Given the description of an element on the screen output the (x, y) to click on. 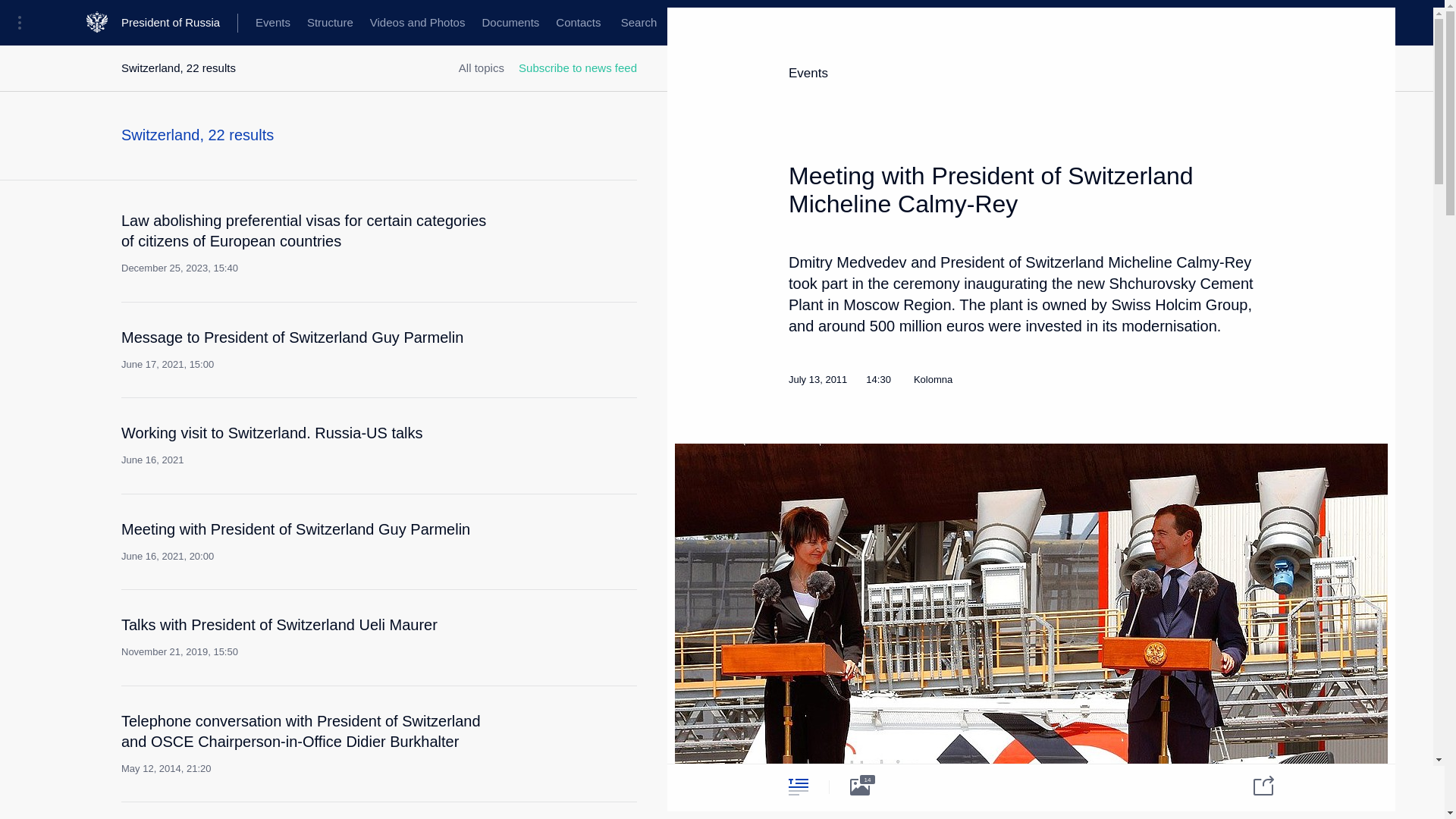
Text (798, 786)
Videos and Photos (417, 22)
All topics (480, 67)
Search (638, 22)
Global website search (321, 444)
Share (638, 22)
Documents (1253, 784)
Structure (510, 22)
Events (329, 22)
